Given the description of an element on the screen output the (x, y) to click on. 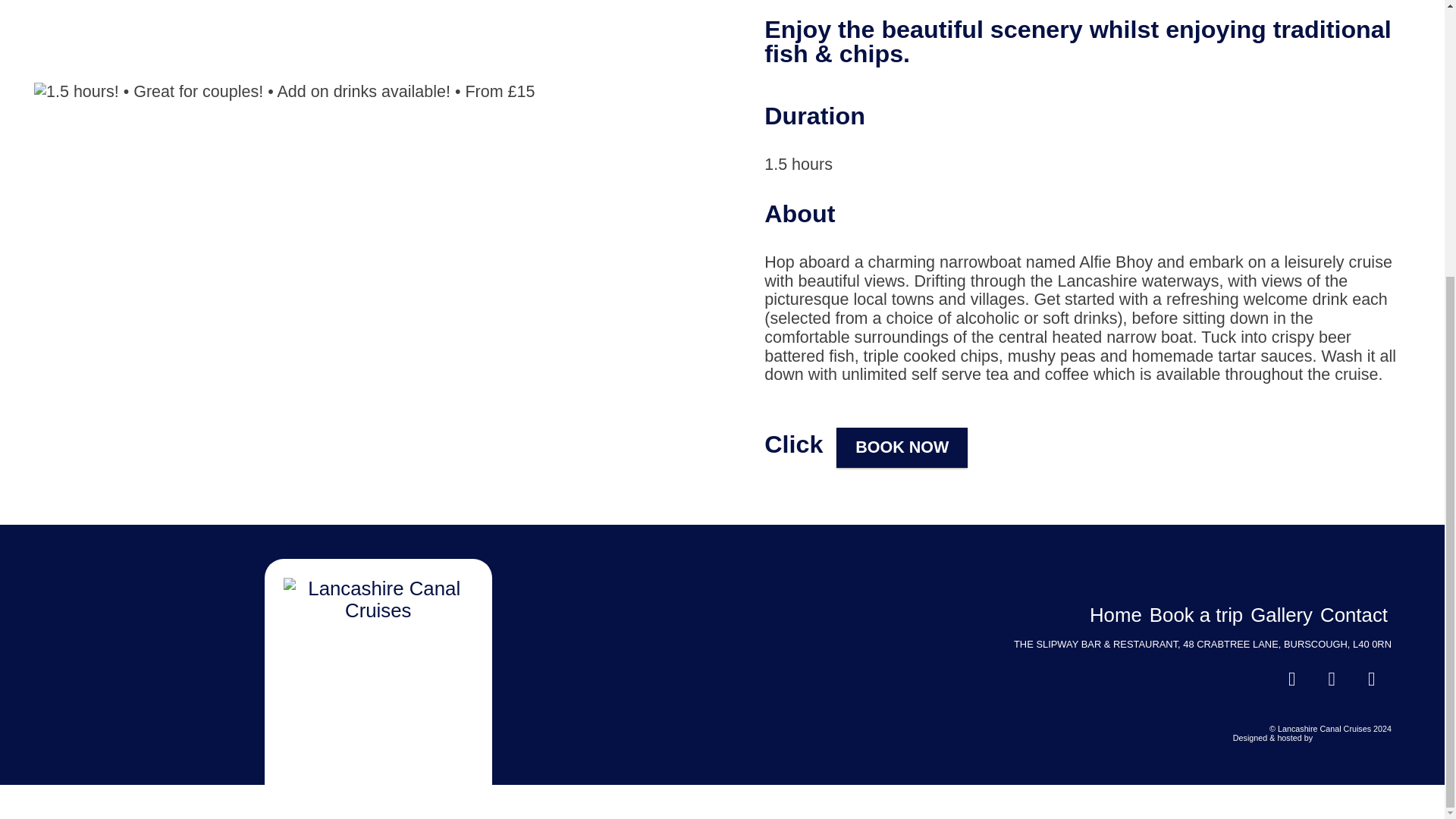
Gallery (1281, 614)
Contact (1353, 614)
Home (1115, 614)
Book a trip (1196, 614)
BOOK NOW (901, 446)
Dark Cherry Creative (1352, 737)
